Given the description of an element on the screen output the (x, y) to click on. 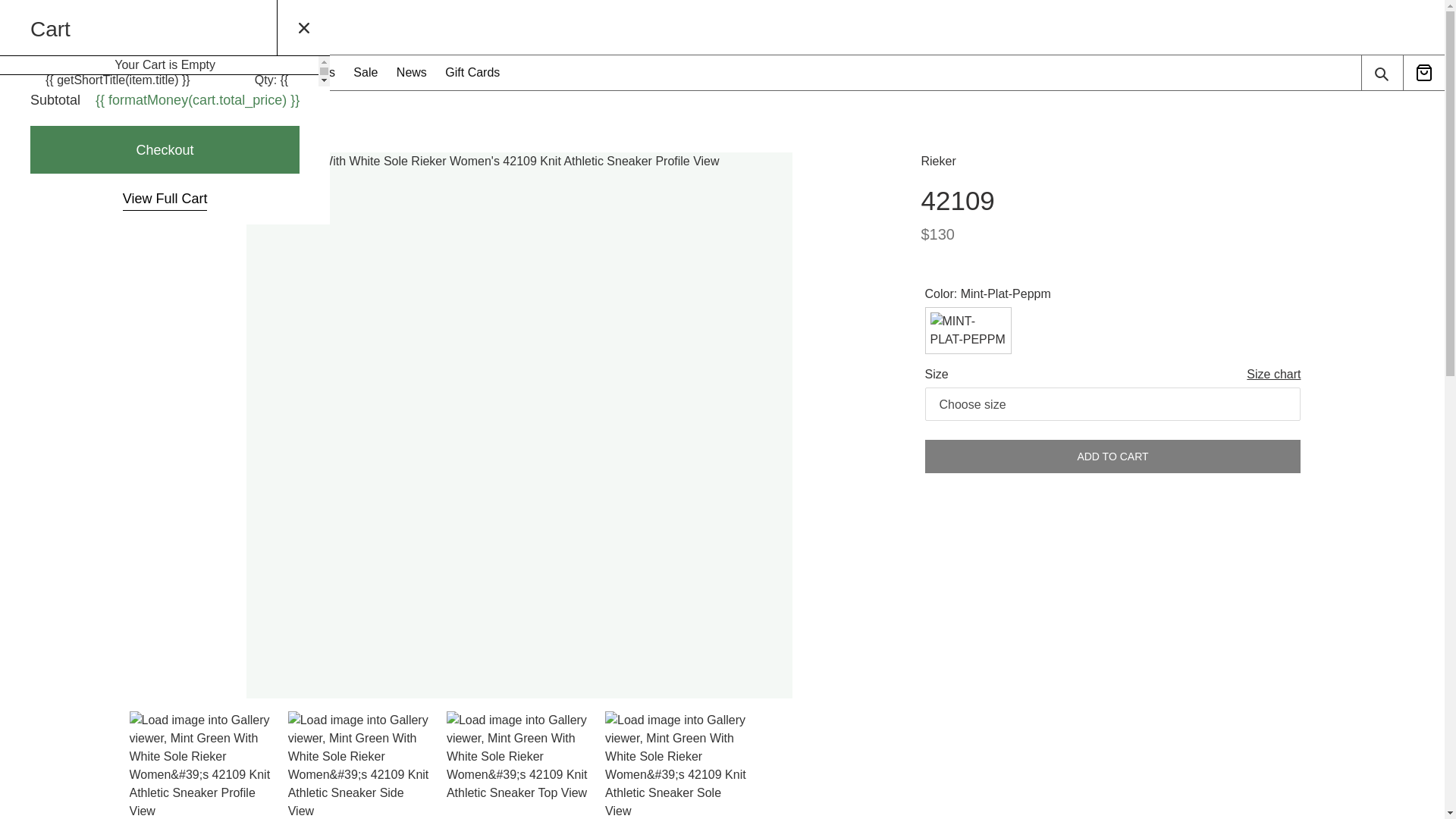
Women (49, 73)
Apparel (163, 73)
Home (153, 122)
Men (106, 73)
